Given the description of an element on the screen output the (x, y) to click on. 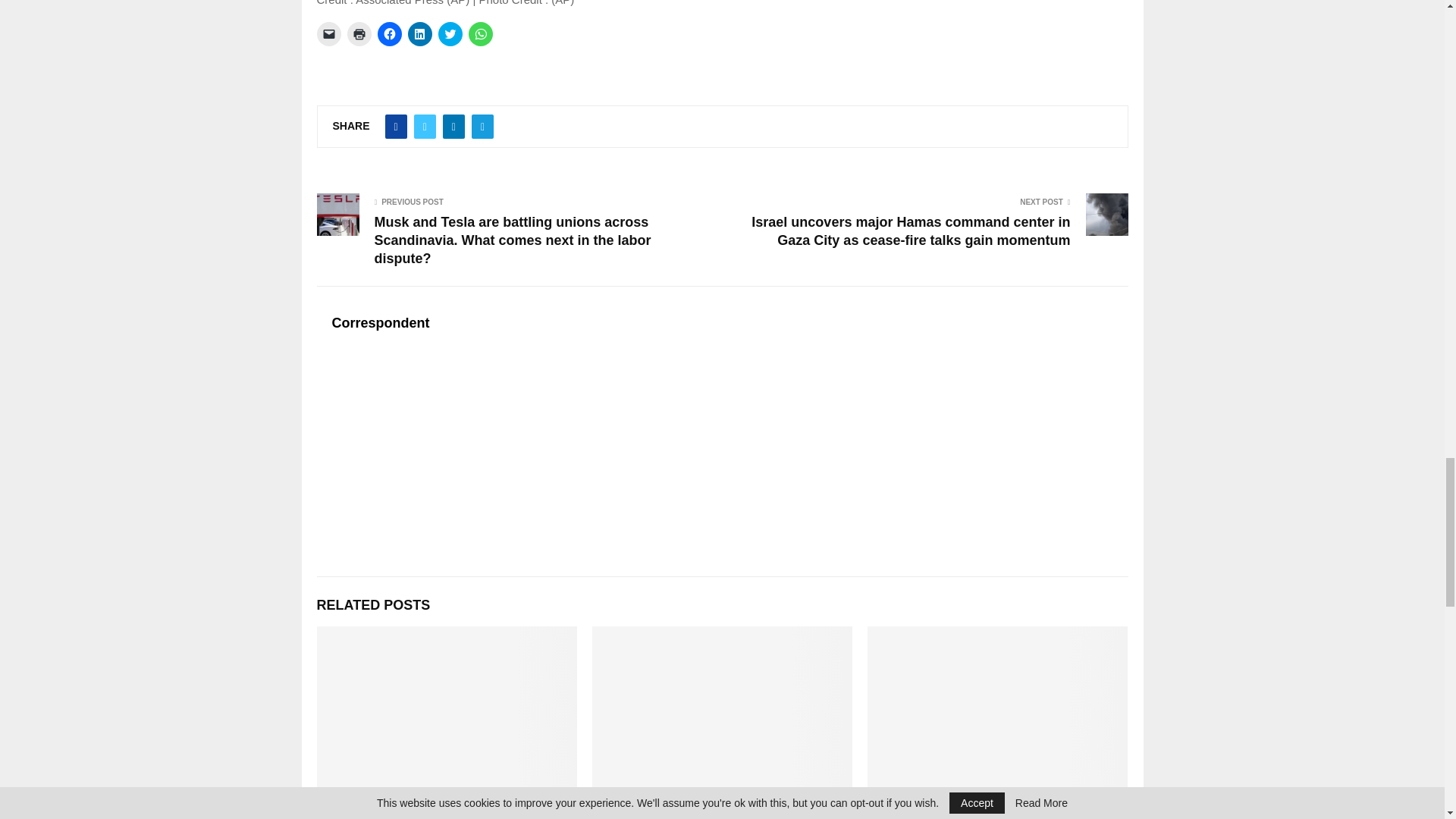
Click to share on Facebook (389, 33)
Click to print (359, 33)
Click to share on LinkedIn (419, 33)
Click to email a link to a friend (328, 33)
